Given the description of an element on the screen output the (x, y) to click on. 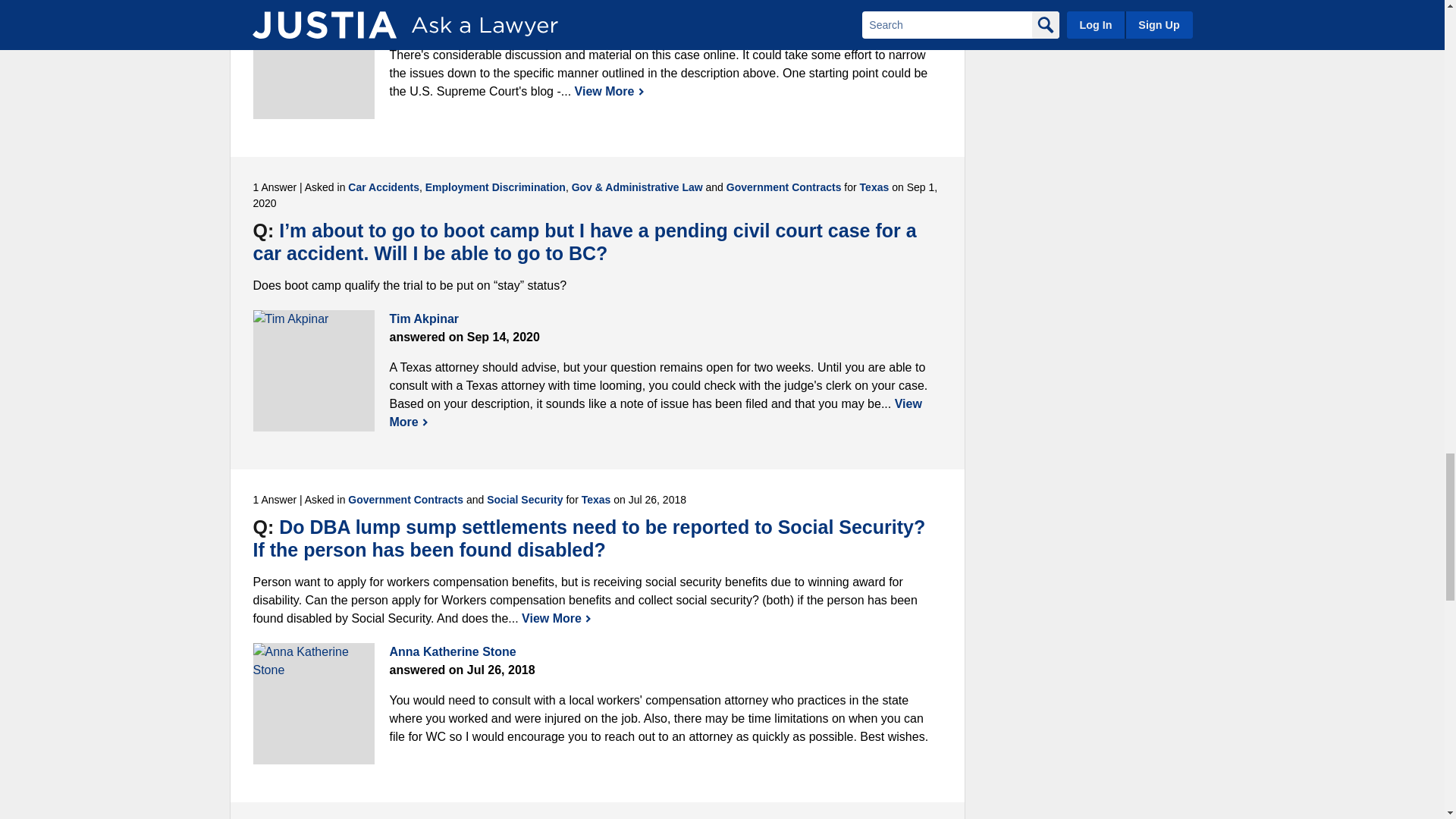
Tim Akpinar (313, 370)
Anna Katherine Stone (313, 703)
Tim Akpinar (313, 59)
